Given the description of an element on the screen output the (x, y) to click on. 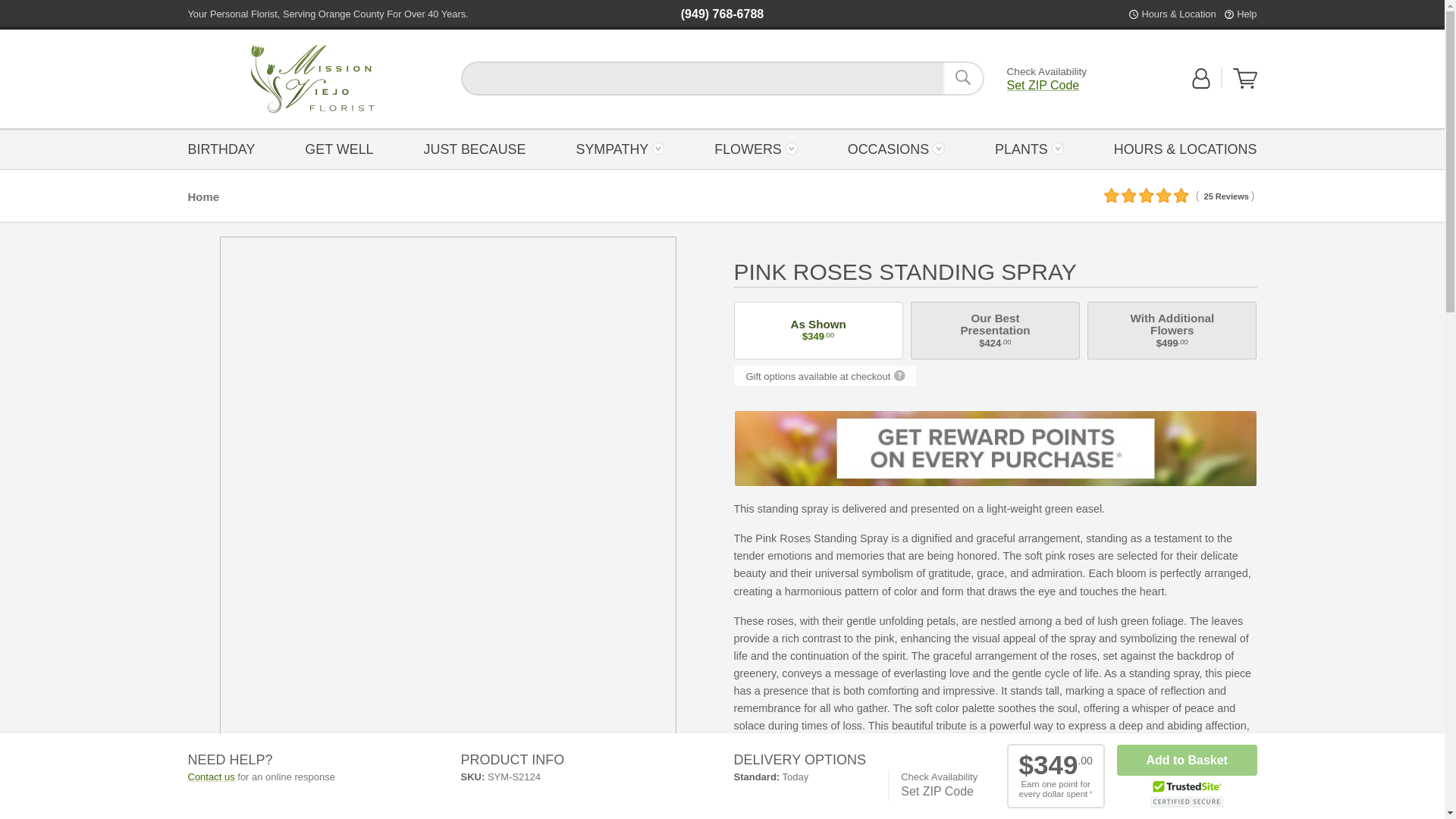
Search (963, 78)
JUST BECAUSE (474, 147)
SYMPATHY (619, 147)
View Your Shopping Cart (1245, 78)
Back to the Home Page (312, 79)
Mission Viejo Florist Logo (312, 79)
Set ZIP Code (1043, 85)
BIRTHDAY (225, 147)
GET WELL (312, 79)
